Given the description of an element on the screen output the (x, y) to click on. 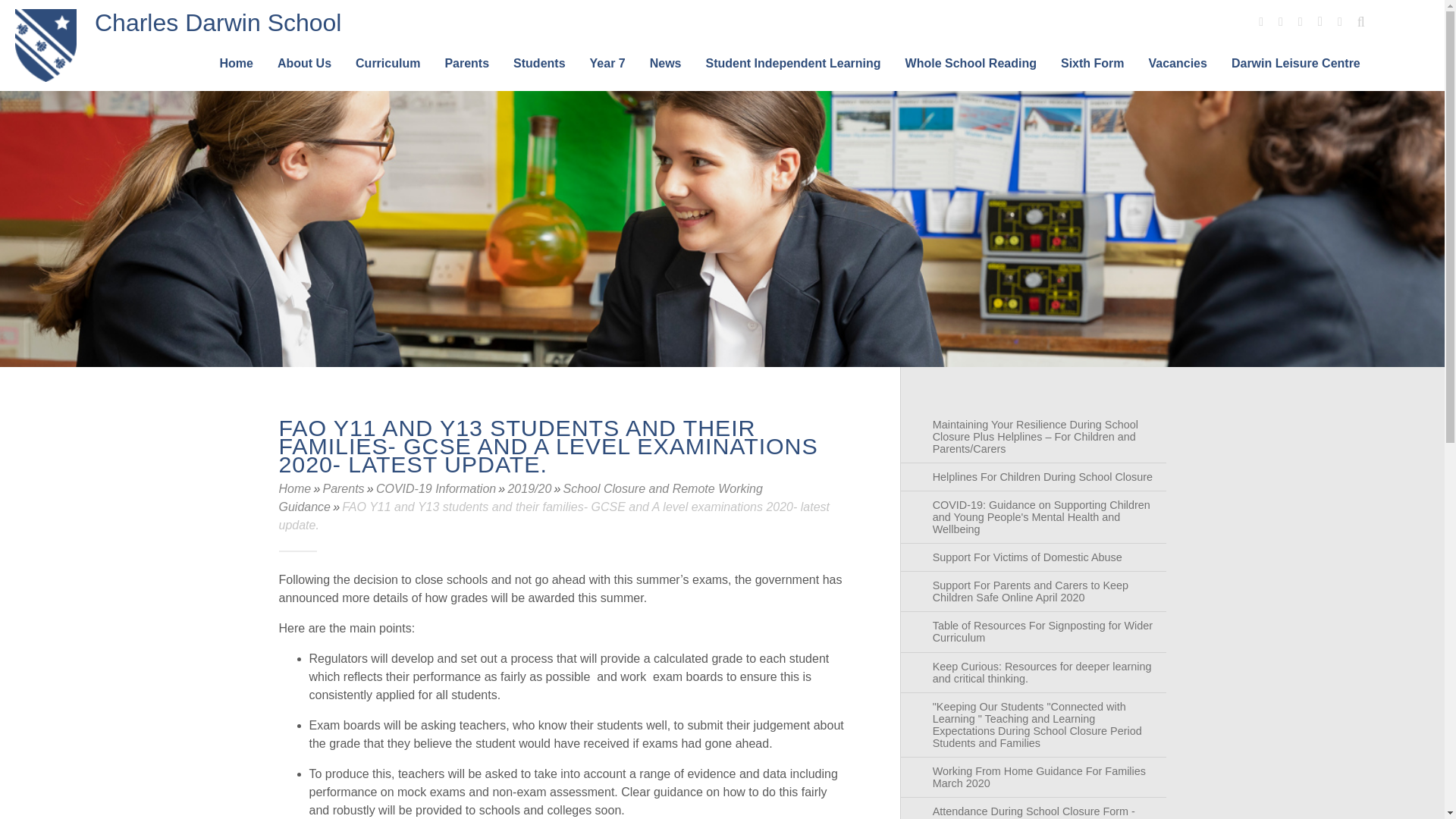
About Us (303, 73)
Home (235, 73)
